Given the description of an element on the screen output the (x, y) to click on. 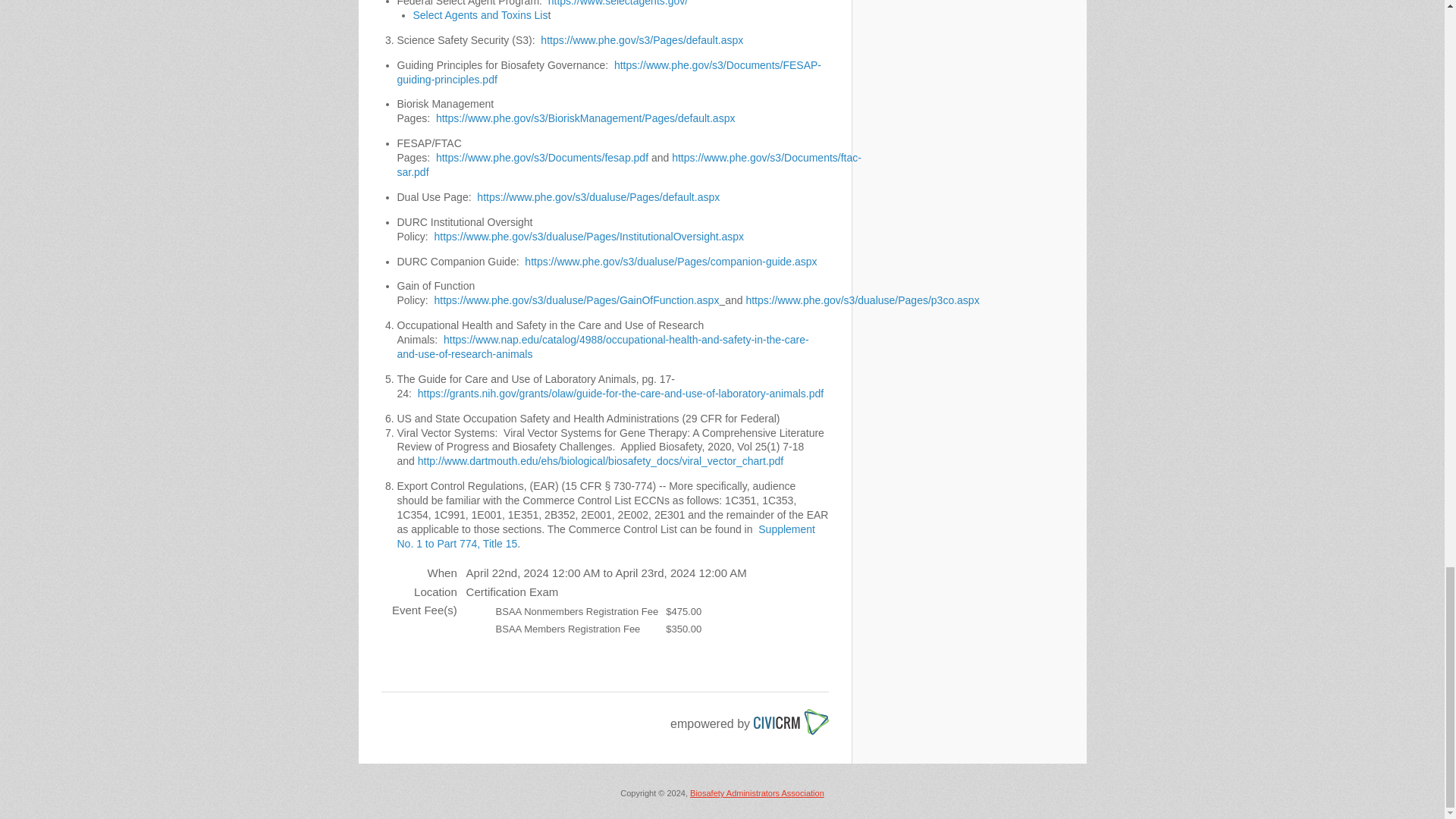
Select Agents and Toxins Lis (479, 15)
CiviCRM.org - Growing and Sustaining Relationships (791, 714)
Supplement No. 1 to Part 774, Title 15 (606, 536)
Biosafety Administrators Association (757, 792)
